Given the description of an element on the screen output the (x, y) to click on. 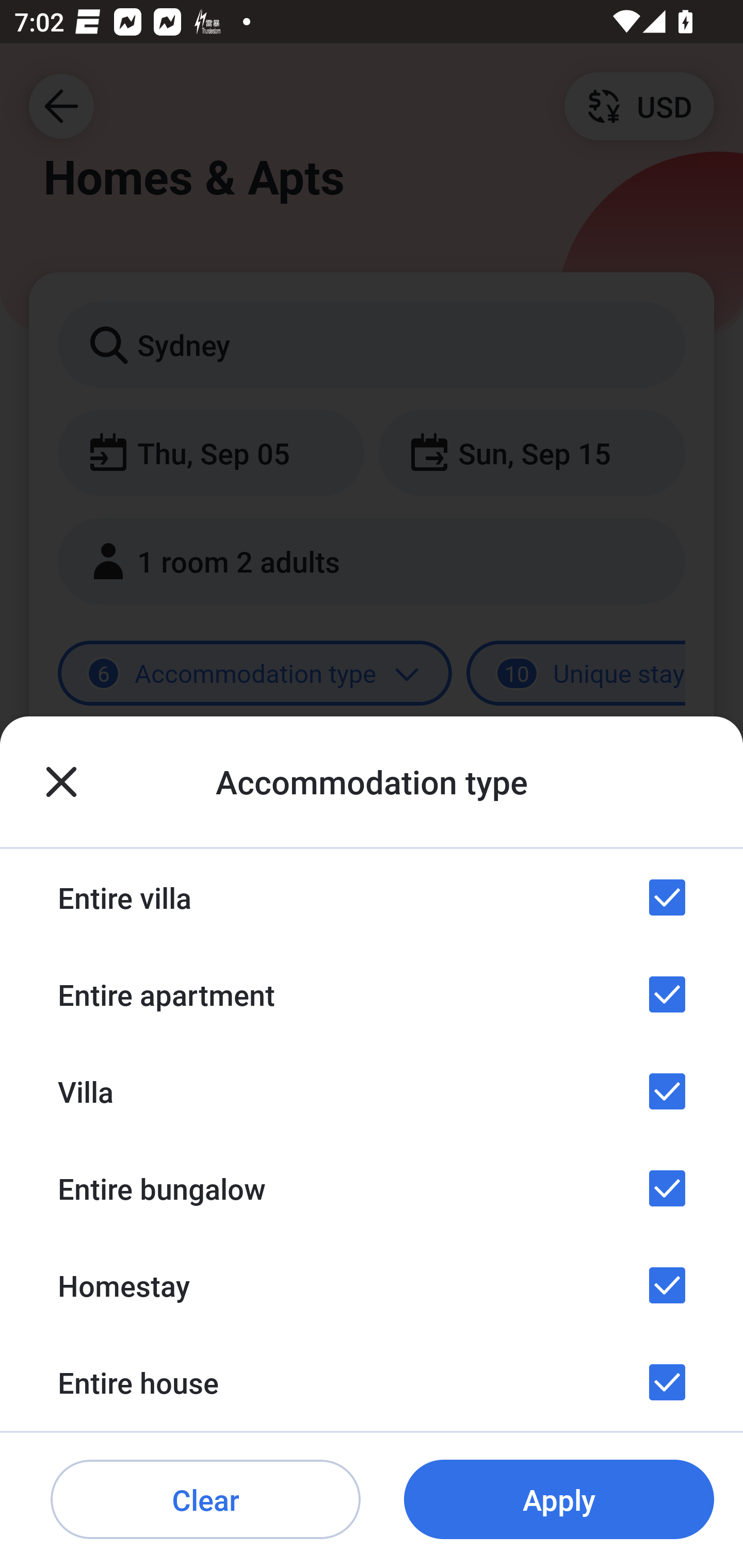
Entire villa (371, 897)
Entire apartment (371, 994)
Villa (371, 1091)
Entire bungalow (371, 1188)
Homestay (371, 1284)
Entire house (371, 1382)
Clear (205, 1499)
Apply (559, 1499)
